Given the description of an element on the screen output the (x, y) to click on. 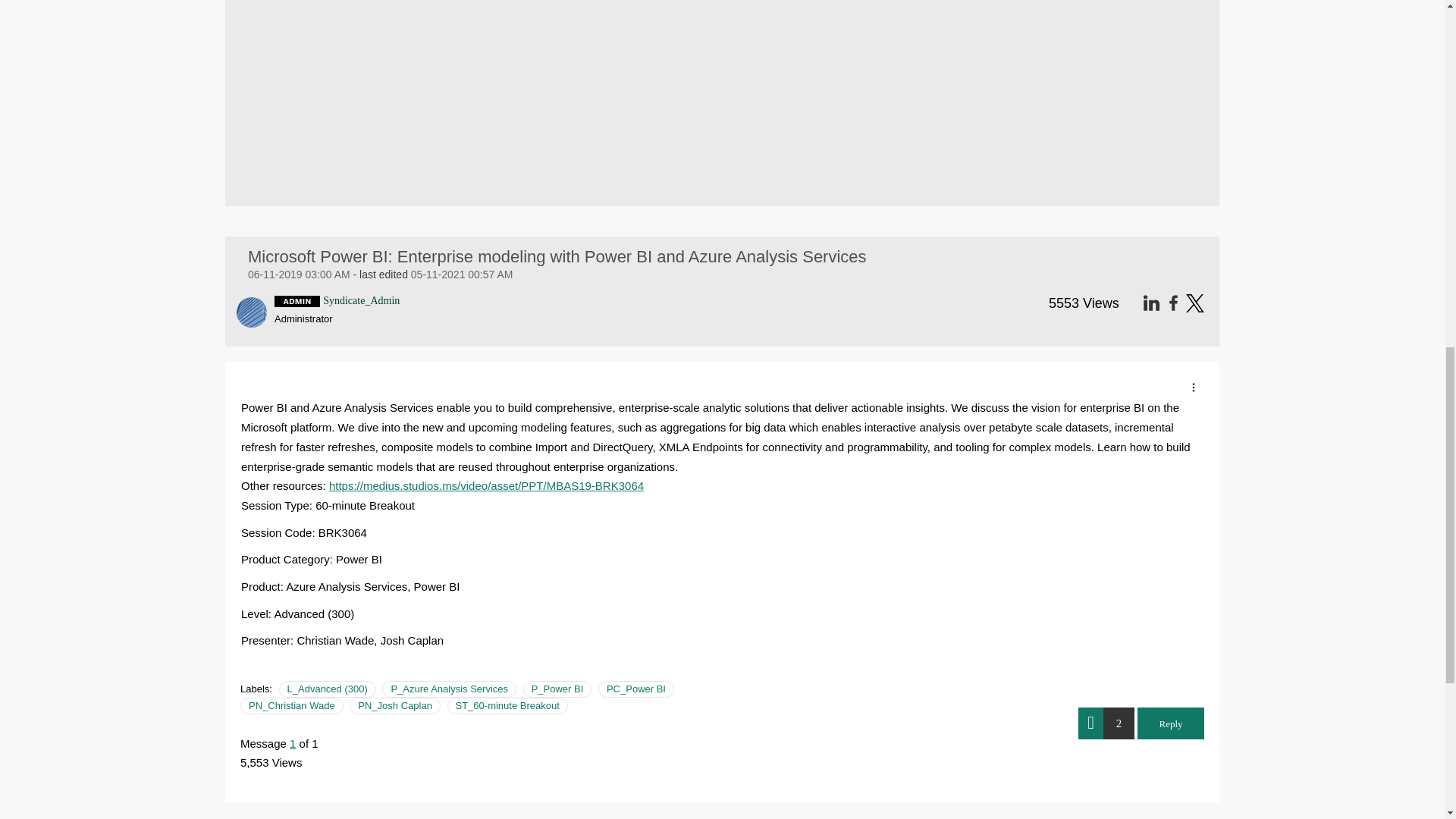
Administrator (297, 300)
Show option menu (1193, 387)
